Given the description of an element on the screen output the (x, y) to click on. 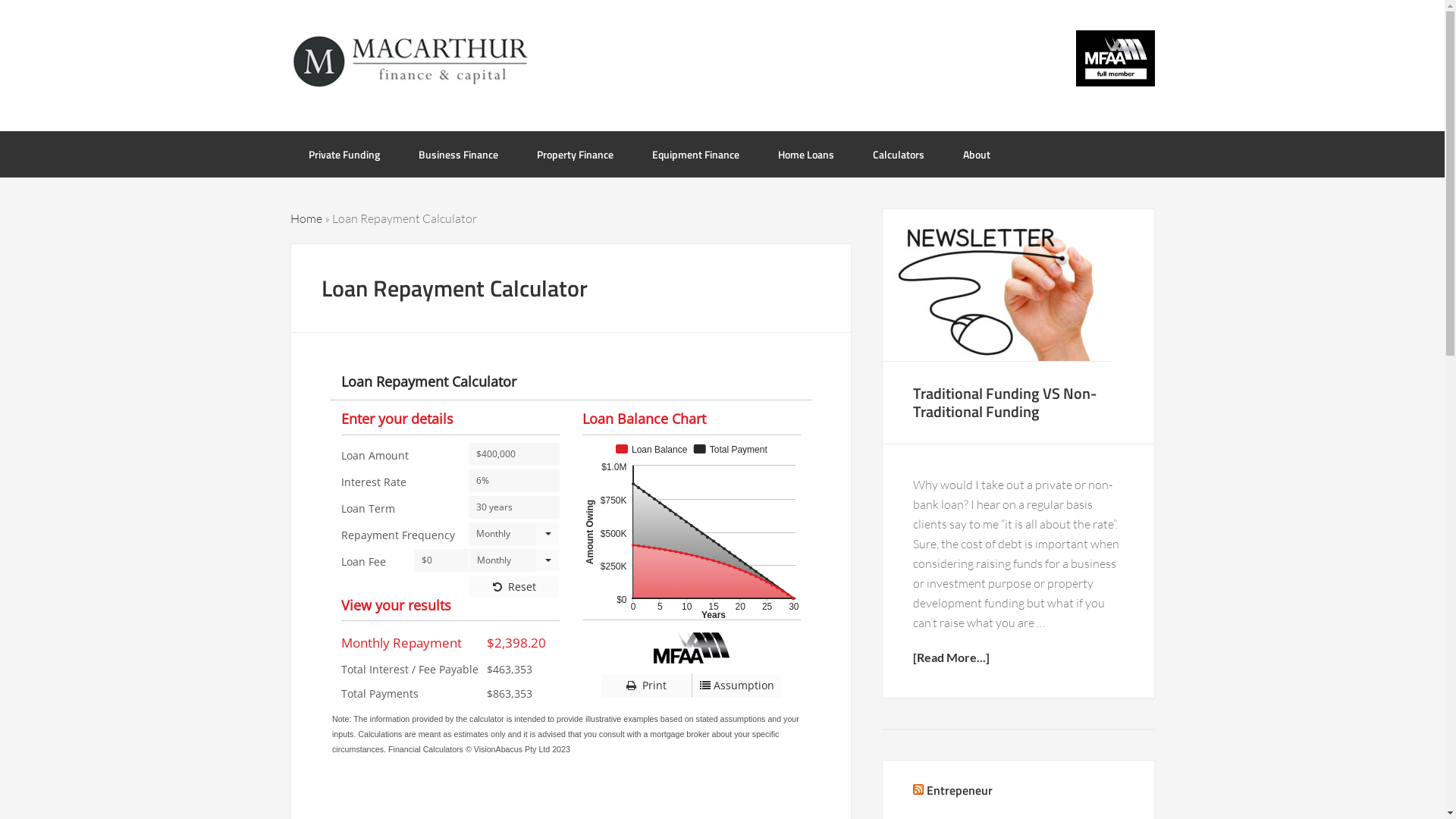
Calculators Element type: text (897, 154)
Home Element type: text (305, 217)
[Read More...] Element type: text (1018, 657)
Private Funding Element type: text (343, 154)
Property Finance Element type: text (574, 154)
Entrepeneur Element type: text (959, 790)
About Element type: text (976, 154)
Traditional Funding VS Non-Traditional Funding Element type: text (1004, 402)
Home Loans Element type: text (805, 154)
Business Finance Element type: text (458, 154)
Equipment Finance Element type: text (695, 154)
